Given the description of an element on the screen output the (x, y) to click on. 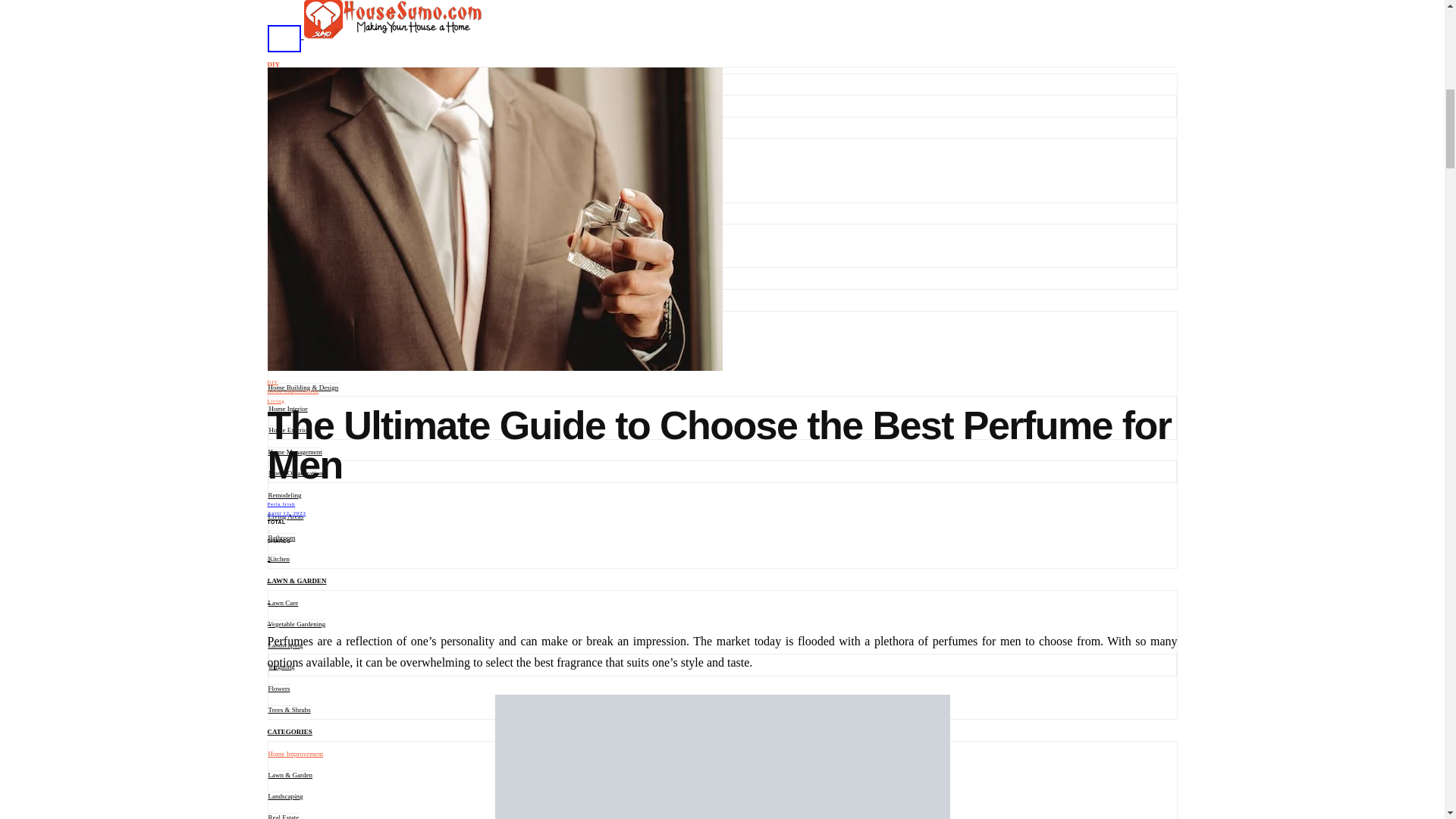
DIY (272, 63)
View all posts by Perla Irish (280, 503)
The Ultimate Guide to Choose the Best Perfume for Men (722, 756)
